Given the description of an element on the screen output the (x, y) to click on. 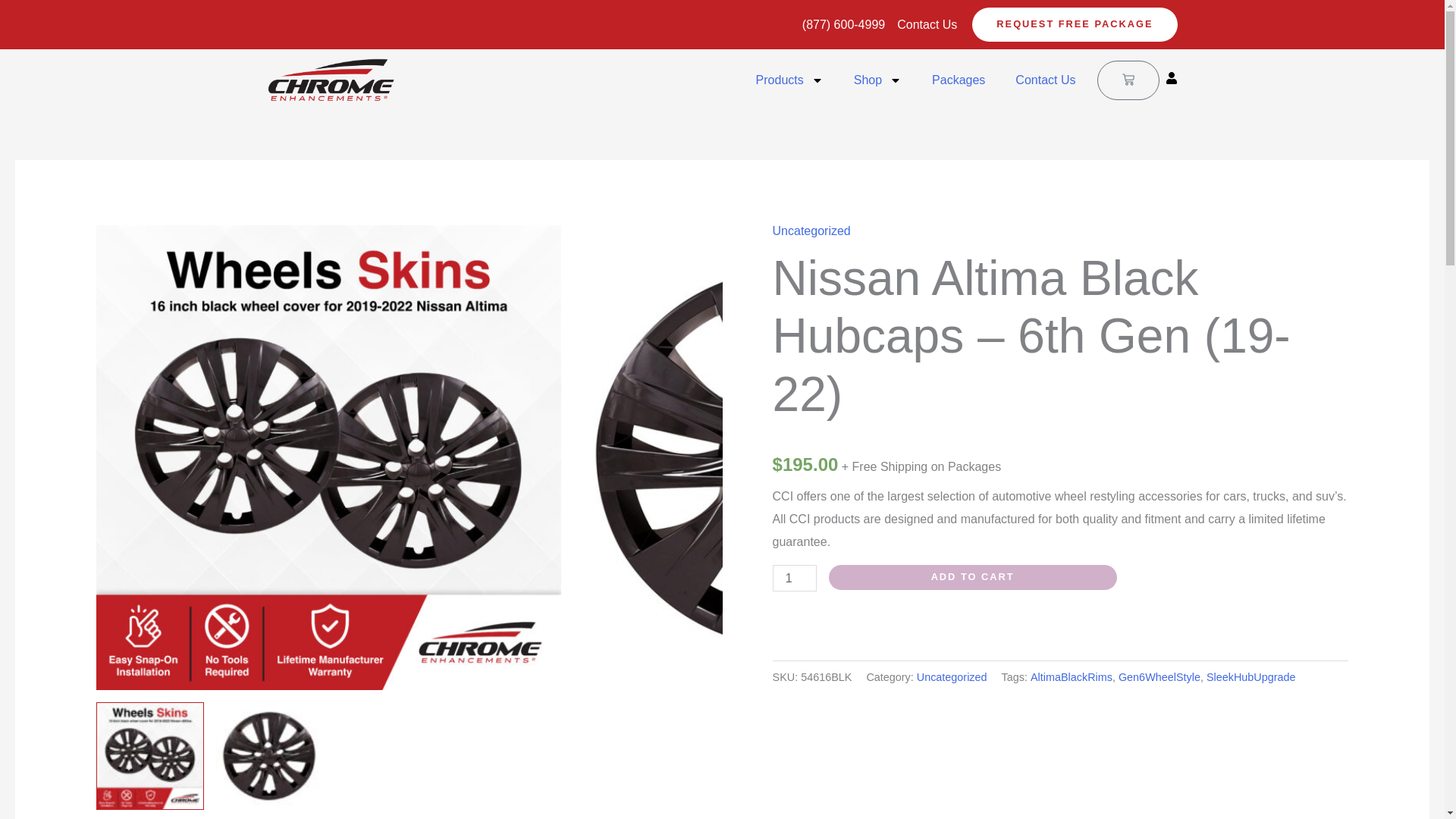
Uncategorized (811, 230)
Packages (958, 80)
1 (794, 578)
ADD TO CART (972, 577)
Uncategorized (952, 676)
SleekHubUpgrade (1251, 676)
REQUEST FREE PACKAGE (1074, 24)
Products (789, 80)
Contact Us (1045, 80)
CART (1127, 79)
Gen6WheelStyle (1158, 676)
Shop (877, 80)
PayPal (1061, 624)
